Given the description of an element on the screen output the (x, y) to click on. 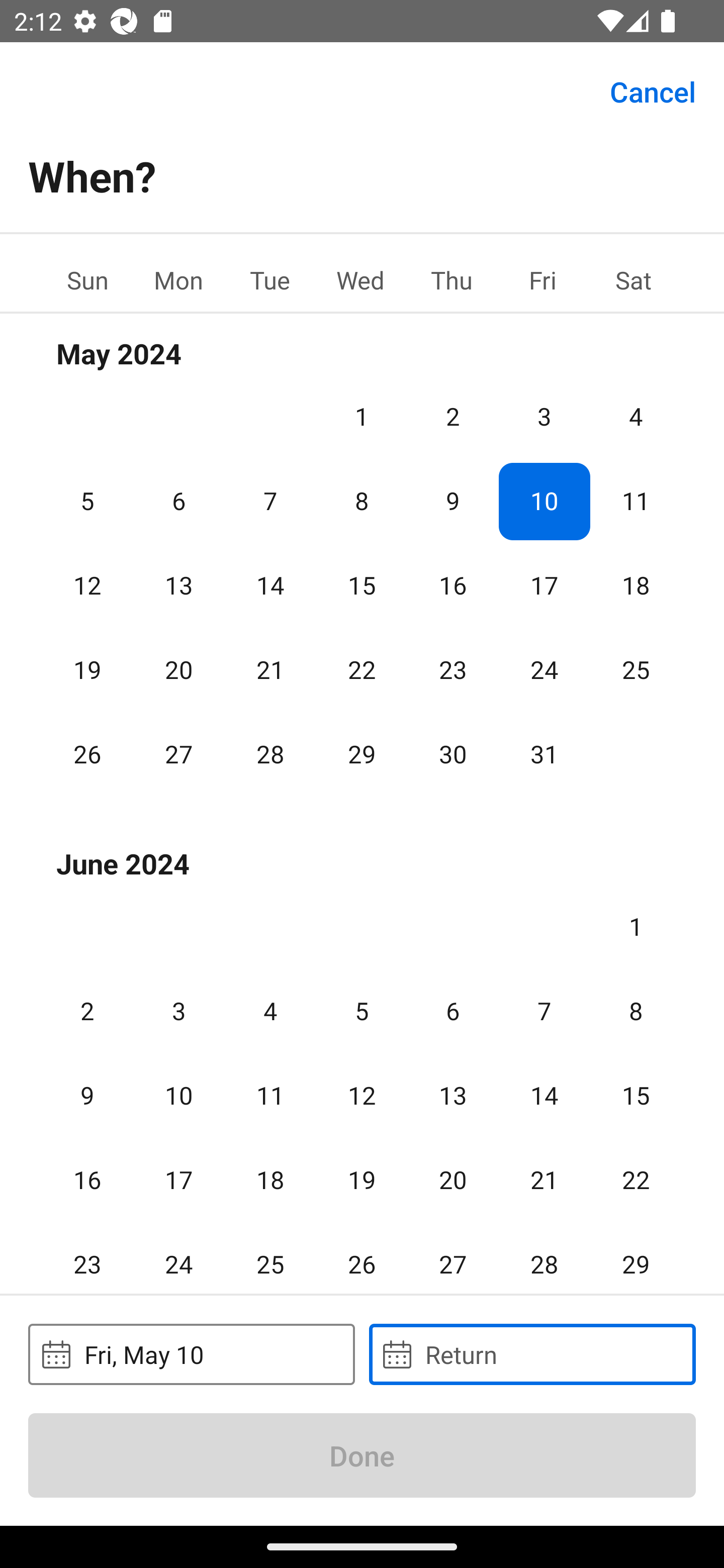
Cancel (652, 90)
Fri, May 10 (191, 1353)
Return (532, 1353)
Done (361, 1454)
